Given the description of an element on the screen output the (x, y) to click on. 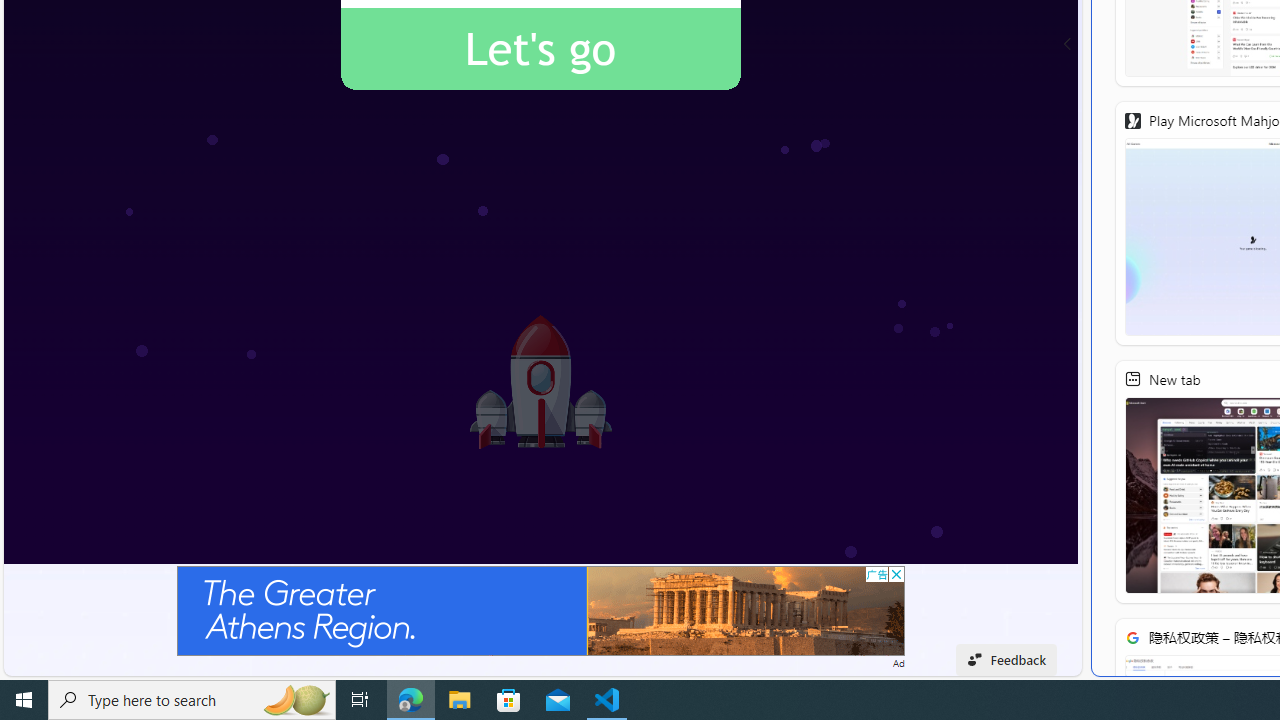
Advertisement (540, 610)
Advertisement (540, 610)
AutomationID: cbb (896, 574)
Class: control (1067, 43)
